Given the description of an element on the screen output the (x, y) to click on. 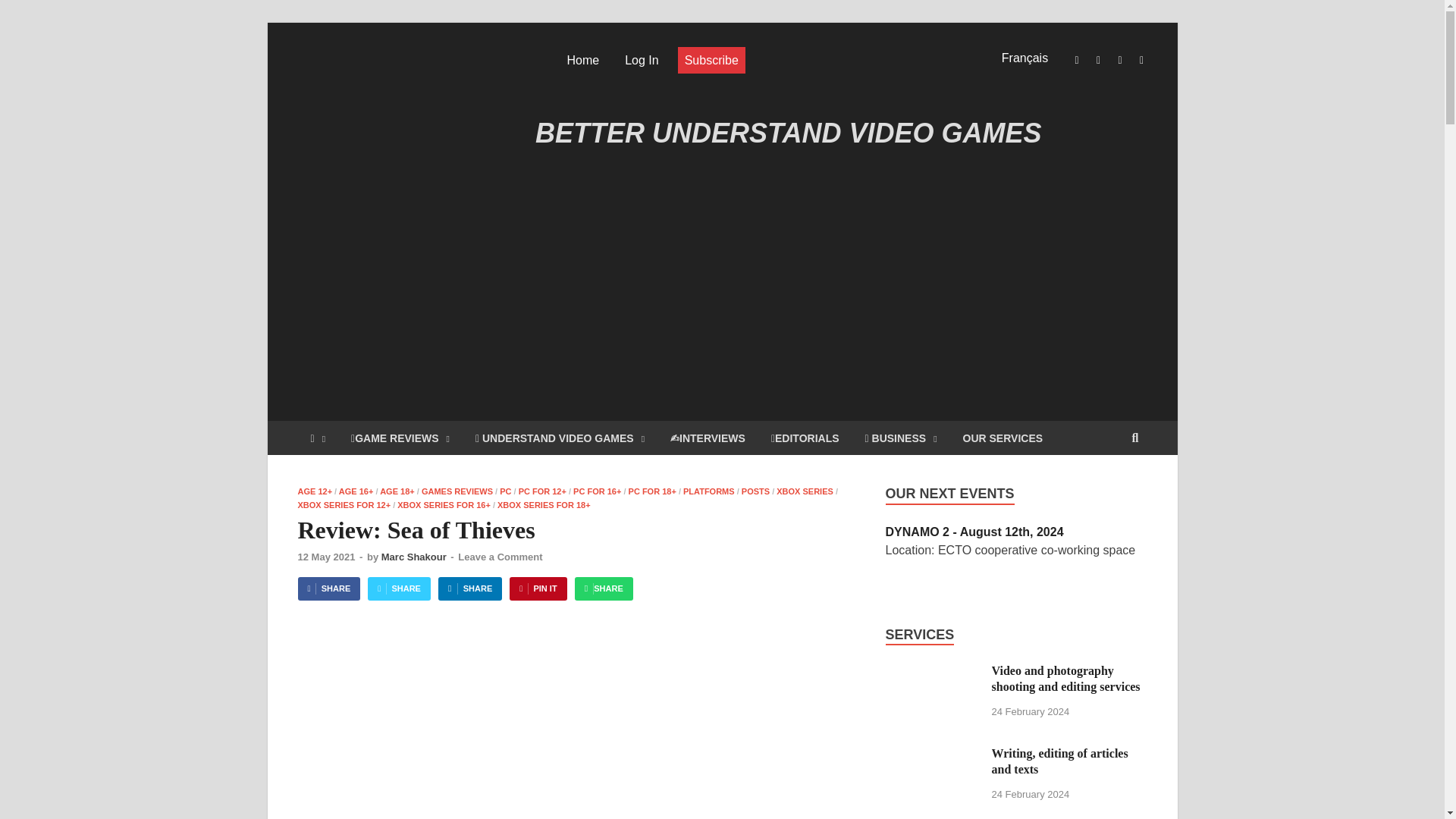
Subscribe (711, 59)
Home (582, 59)
Log In (641, 59)
Review: Sea of Thieves 1 (575, 723)
